Given the description of an element on the screen output the (x, y) to click on. 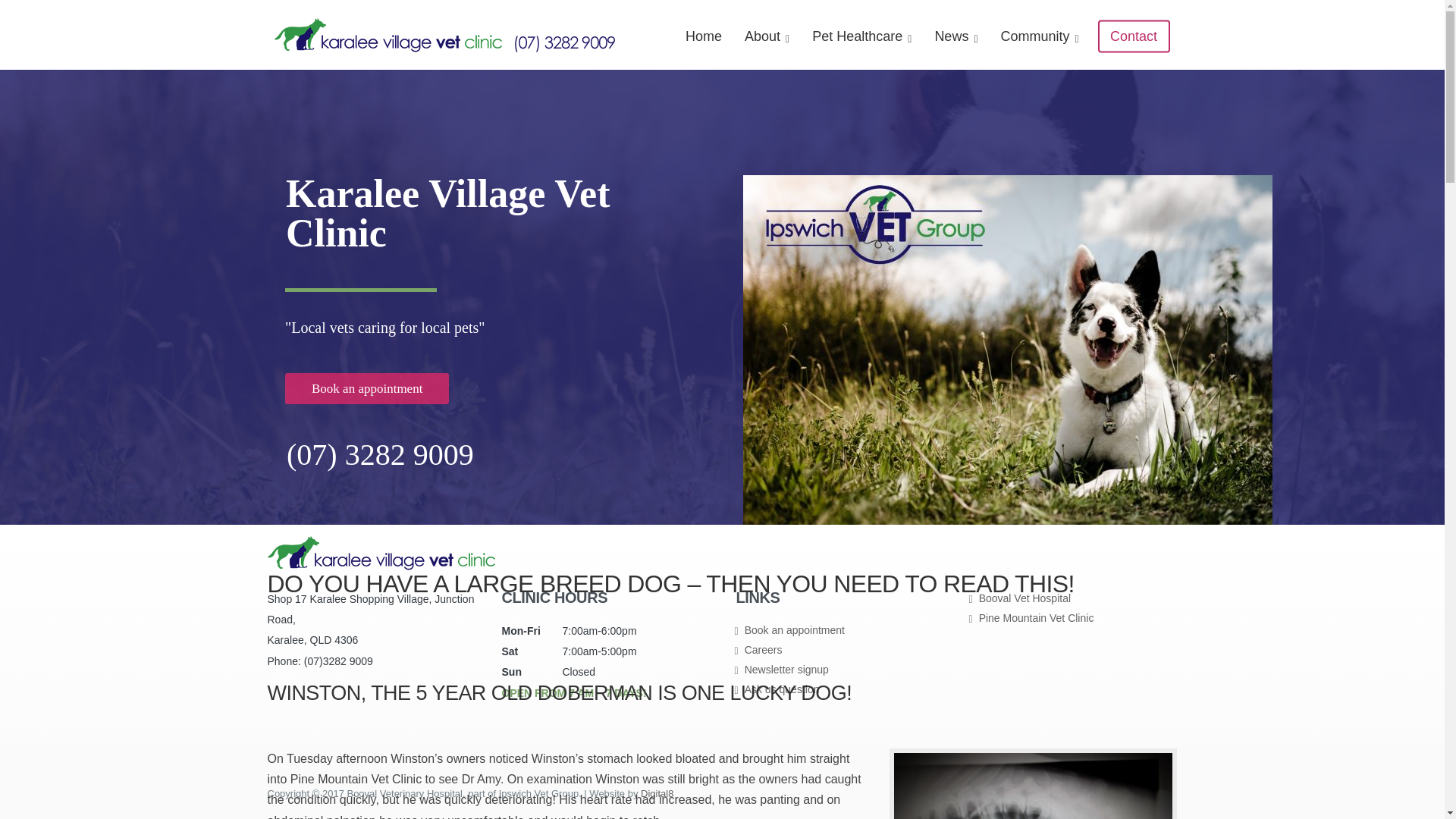
News (955, 34)
Community (1040, 34)
Pet Healthcare (861, 34)
Karalee Village Vet Clinic, Ipswich Vet Group (380, 566)
Contact (1133, 36)
About (766, 34)
